Given the description of an element on the screen output the (x, y) to click on. 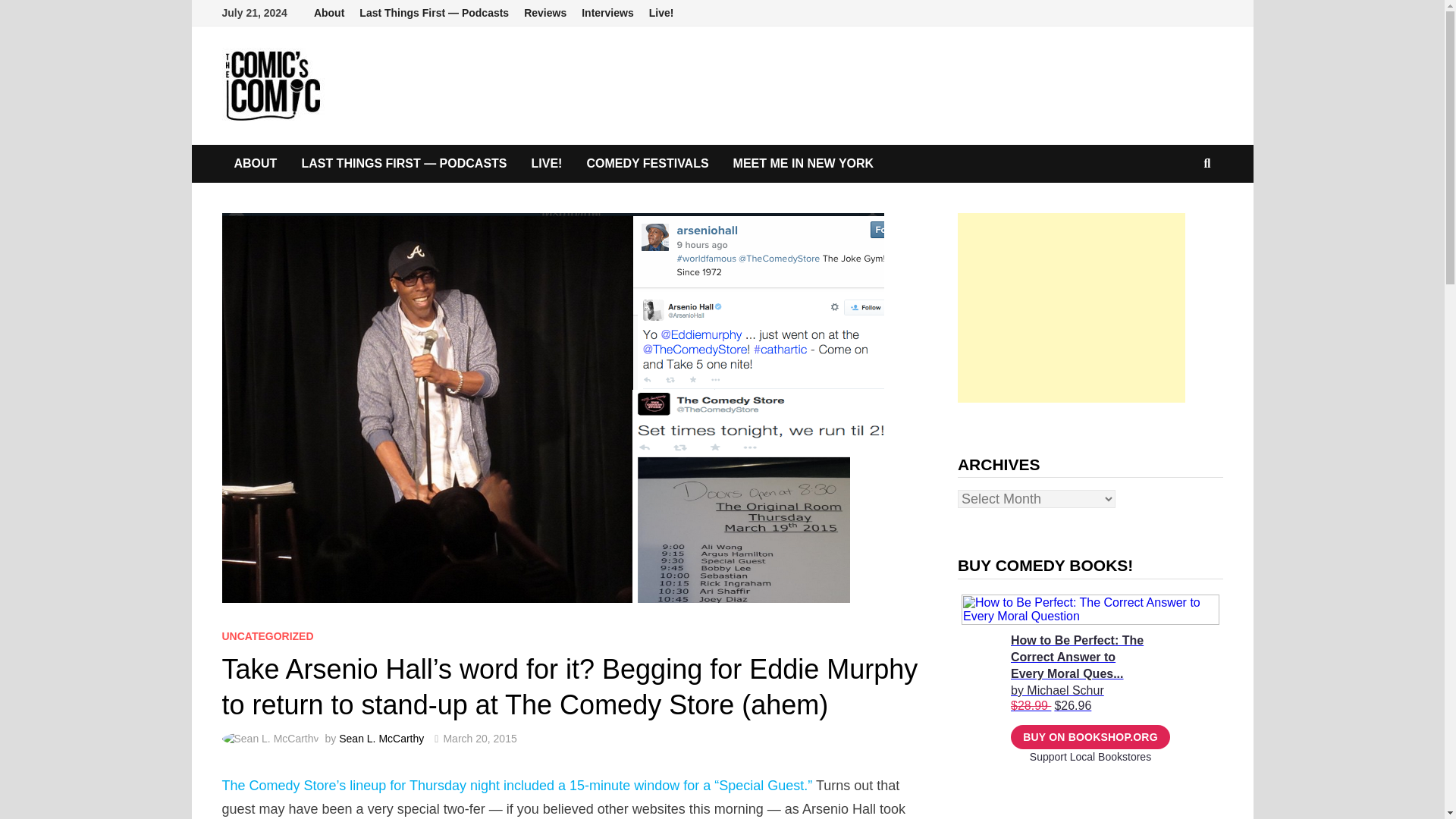
UNCATEGORIZED (267, 635)
ABOUT (254, 163)
LIVE! (547, 163)
COMEDY FESTIVALS (646, 163)
MEET ME IN NEW YORK (803, 163)
Advertisement (1071, 307)
Sean L. McCarthy (381, 738)
March 20, 2015 (479, 738)
Live! (661, 13)
About (328, 13)
Reviews (544, 13)
Interviews (606, 13)
